Given the description of an element on the screen output the (x, y) to click on. 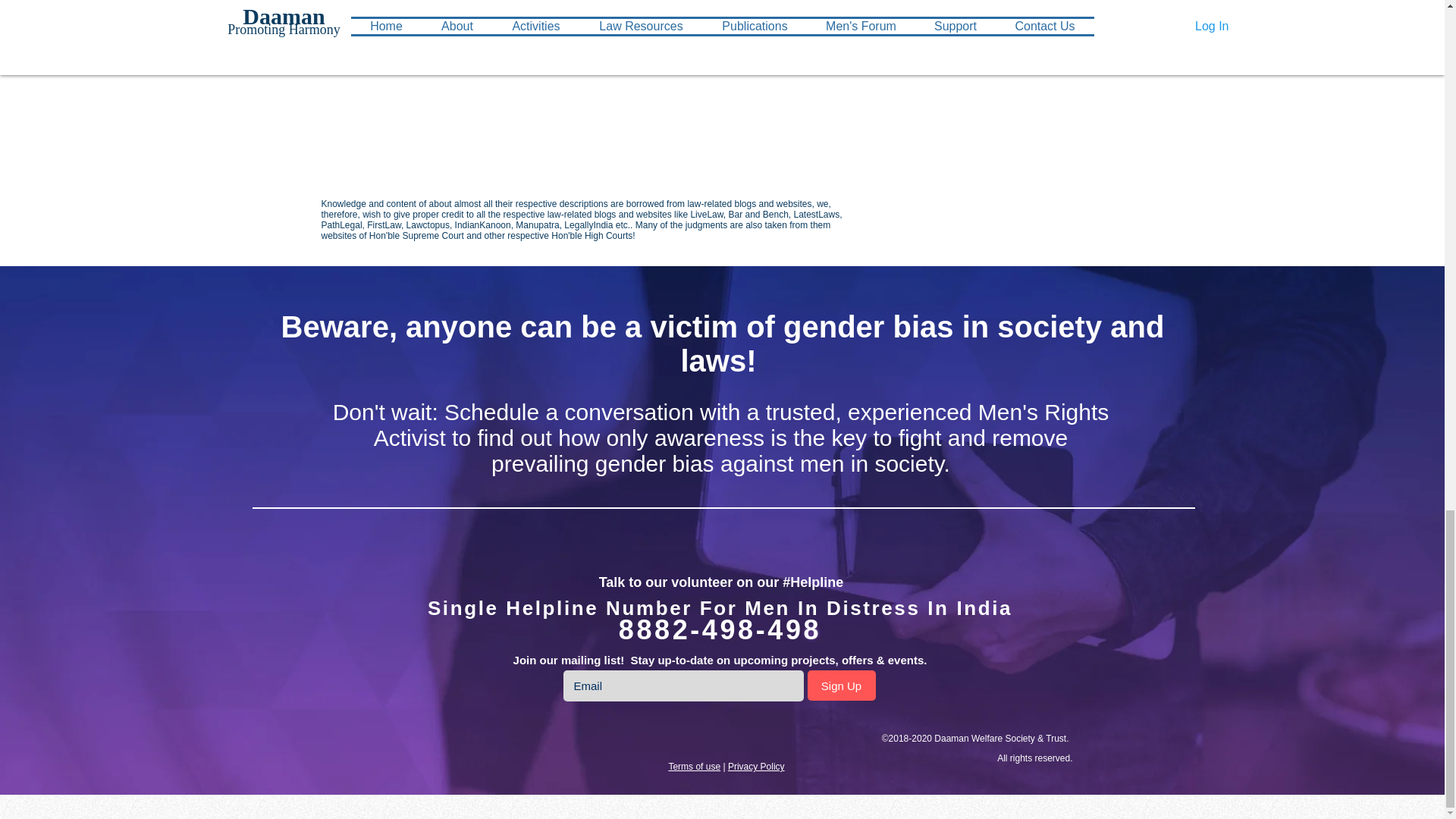
Sign Up (840, 685)
Privacy Policy (756, 766)
Terms of use (694, 766)
